Given the description of an element on the screen output the (x, y) to click on. 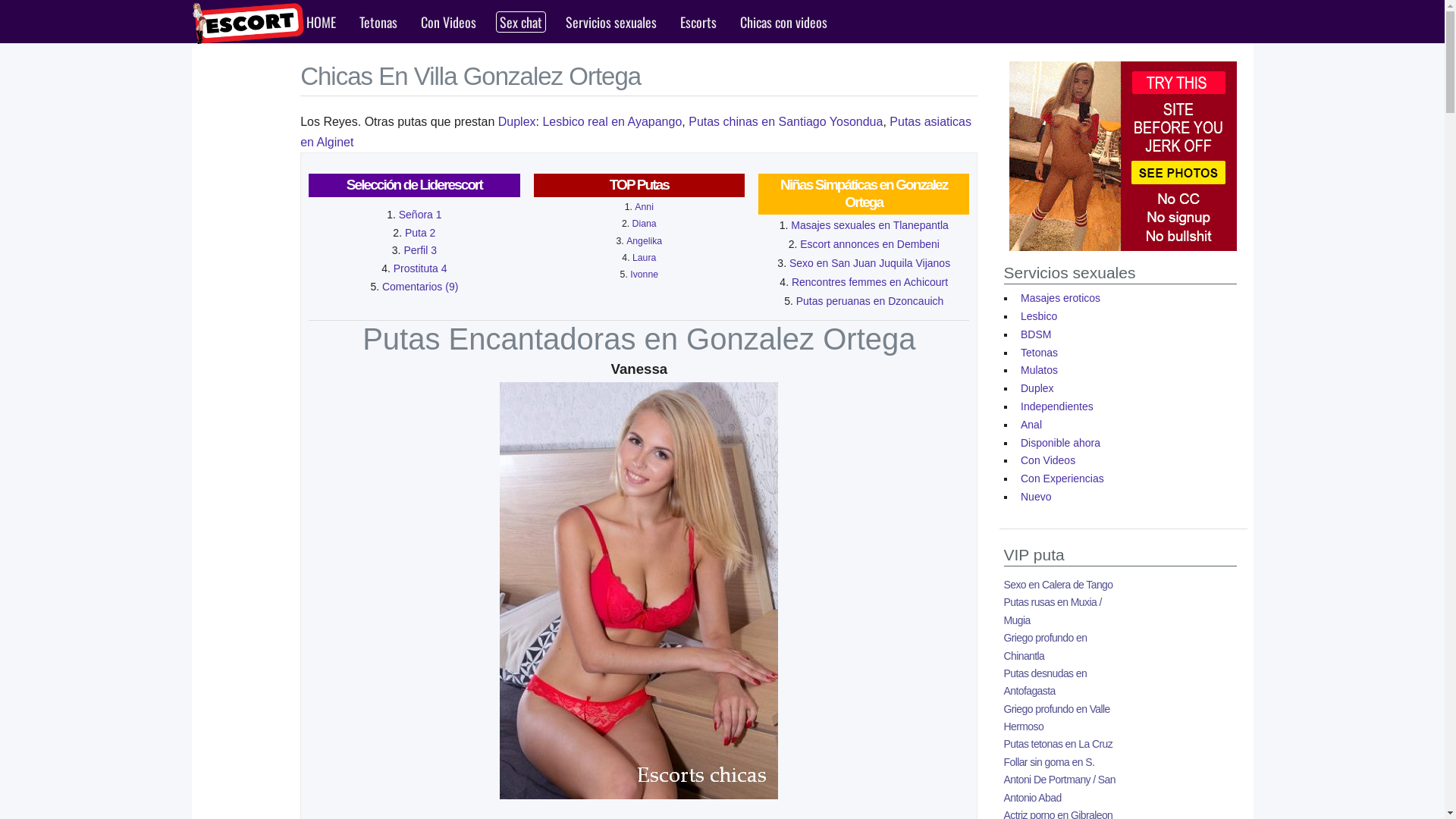
Putas asiaticas en Alginet Element type: text (635, 131)
Lesbico Element type: text (1038, 315)
Escort annonces en Dembeni Element type: text (869, 244)
Putas peruanas en Dzoncauich Element type: text (870, 300)
Tetonas Element type: text (378, 21)
Lesbico real en Ayapango Element type: text (611, 121)
Griego profundo en Valle Hermoso Element type: text (1057, 717)
Anni Element type: text (643, 206)
Putas chinas en Santiago Yosondua Element type: text (785, 121)
Independientes Element type: text (1056, 406)
Nuevo Element type: text (1035, 496)
Putas rusas en Muxia / Mugia Element type: text (1052, 610)
Rencontres femmes en Achicourt Element type: text (869, 282)
BDSM Element type: text (1035, 334)
Laura Element type: text (643, 257)
Diana Element type: text (644, 223)
Puta 2 Element type: text (419, 232)
Duplex Element type: text (1036, 387)
Sexo en Calera de Tango Element type: text (1058, 584)
Sexo en San Juan Juquila Vijanos Element type: text (869, 263)
Putas desnudas en Antofagasta Element type: text (1045, 681)
Anal Element type: text (1030, 424)
Escorts Element type: text (698, 21)
Chicas con videos Element type: text (783, 21)
Comentarios (9) Element type: text (420, 286)
Sex chat Element type: text (520, 21)
Griego profundo en Chinantla Element type: text (1045, 646)
Masajes eroticos Element type: text (1059, 297)
Perfil 3 Element type: text (419, 250)
Con Videos Element type: text (448, 21)
Disponible ahora Element type: text (1059, 442)
Tetonas Element type: text (1038, 352)
Con Videos Element type: text (1047, 459)
Prostituta 4 Element type: text (420, 268)
Ivonne Element type: text (644, 274)
Duplex Element type: text (517, 121)
Con Experiencias Element type: text (1061, 478)
Follar sin goma en S. Antoni De Portmany / San Antonio Abad Element type: text (1059, 779)
Mulatos Element type: text (1038, 369)
Angelika Element type: text (644, 240)
Putas tetonas en La Cruz Element type: text (1058, 743)
Masajes sexuales en Tlanepantla Element type: text (869, 225)
HOME Element type: text (320, 21)
Servicios sexuales Element type: text (610, 21)
